Given the description of an element on the screen output the (x, y) to click on. 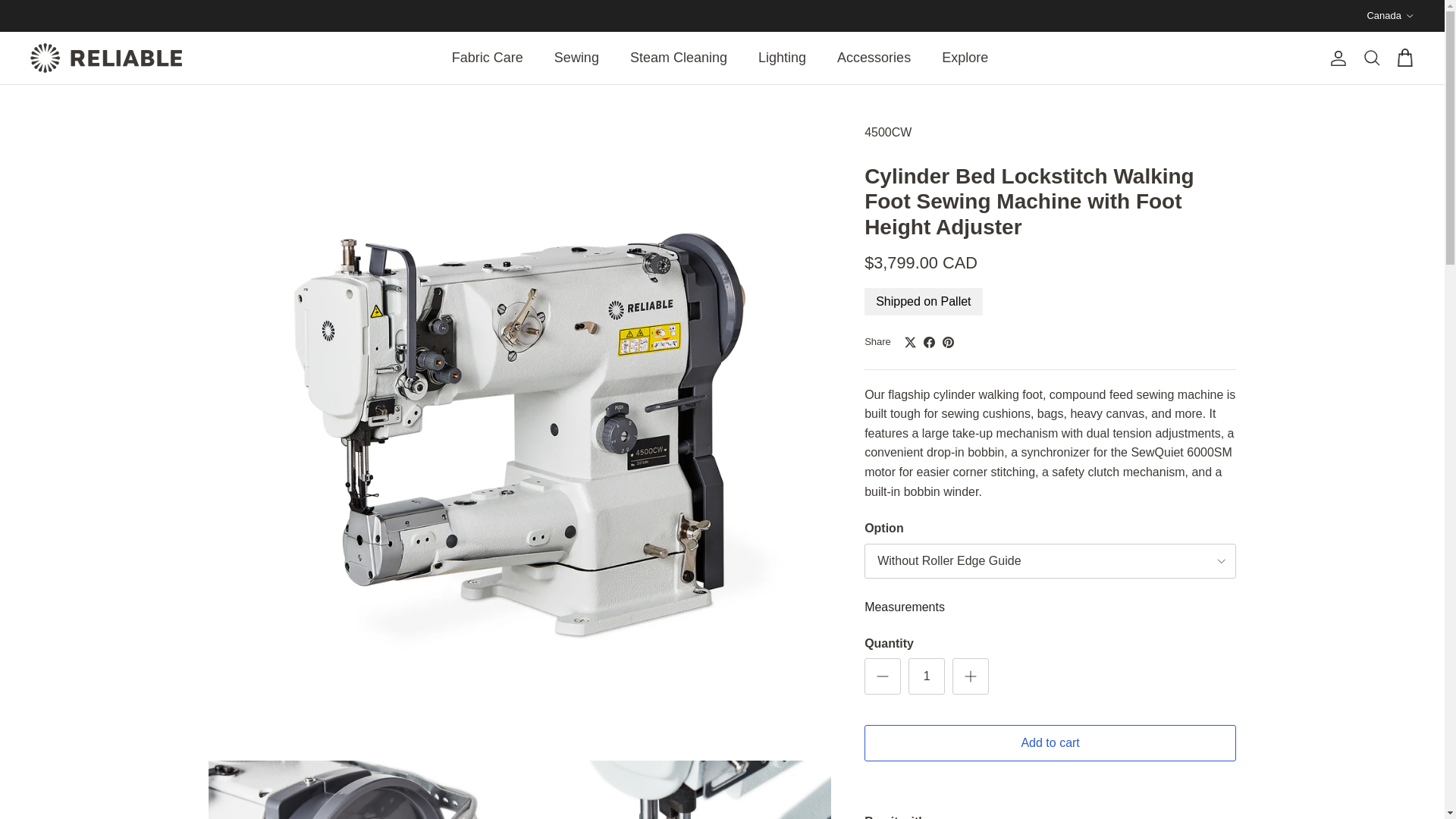
Sewing (576, 57)
Pin on Pinterest (947, 342)
Steam Cleaning (678, 57)
reliablecorporation.com (106, 57)
Canada (1390, 15)
Lighting (781, 57)
Fabric Care (487, 57)
Tweet on X (909, 342)
Search (1371, 57)
Accessories (874, 57)
